Given the description of an element on the screen output the (x, y) to click on. 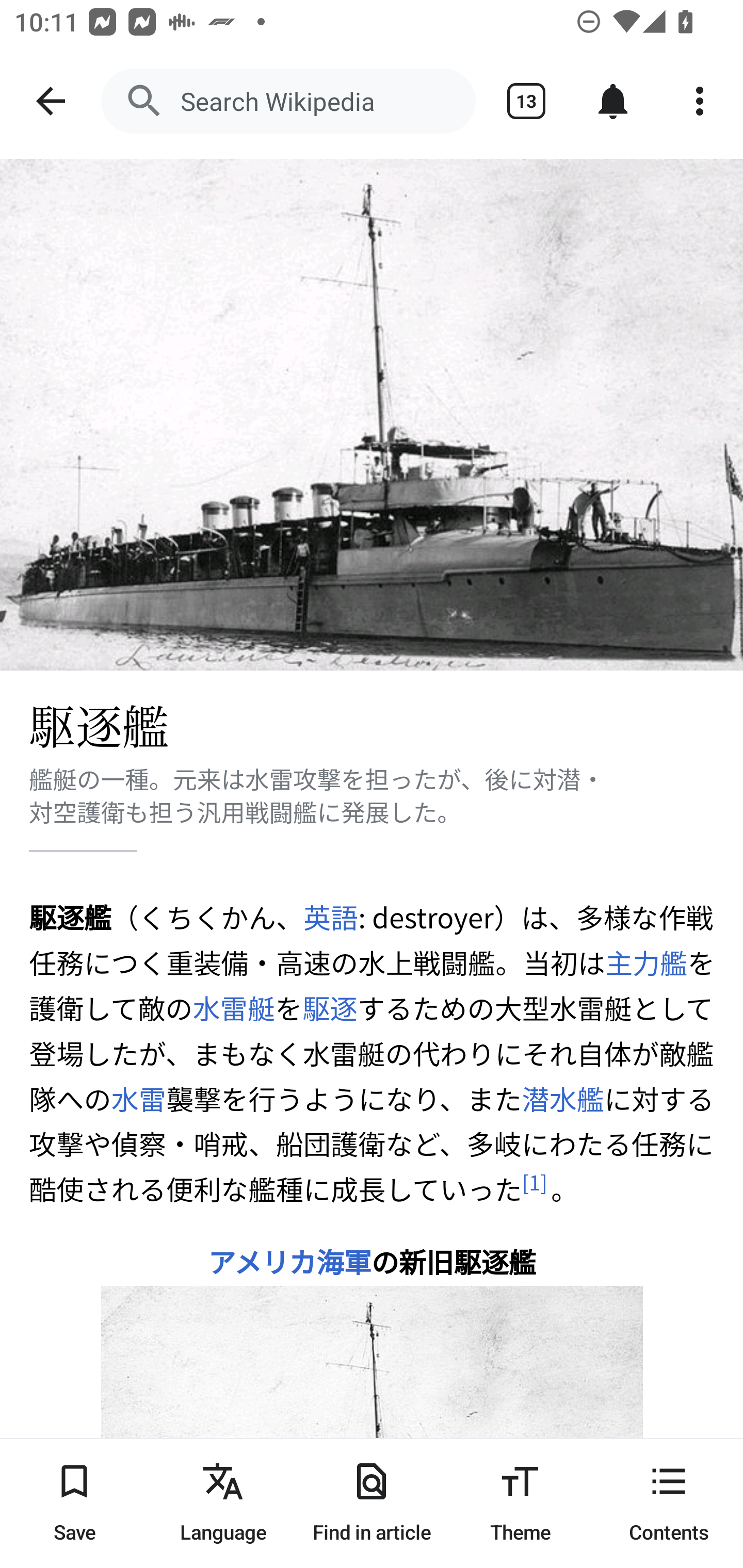
Show tabs 13 (525, 100)
Notifications (612, 100)
Navigate up (50, 101)
More options (699, 101)
Search Wikipedia (288, 100)
Image: 駆逐艦 (371, 414)
英語 (329, 917)
主力艦 (645, 962)
水雷艇 (233, 1007)
駆逐 (329, 1007)
水雷 (138, 1098)
潜水艦 (562, 1098)
[] [ 1 ] (534, 1181)
アメリカ海軍 (289, 1261)
Save (74, 1502)
Language (222, 1502)
Find in article (371, 1502)
Theme (519, 1502)
Contents (668, 1502)
